Given the description of an element on the screen output the (x, y) to click on. 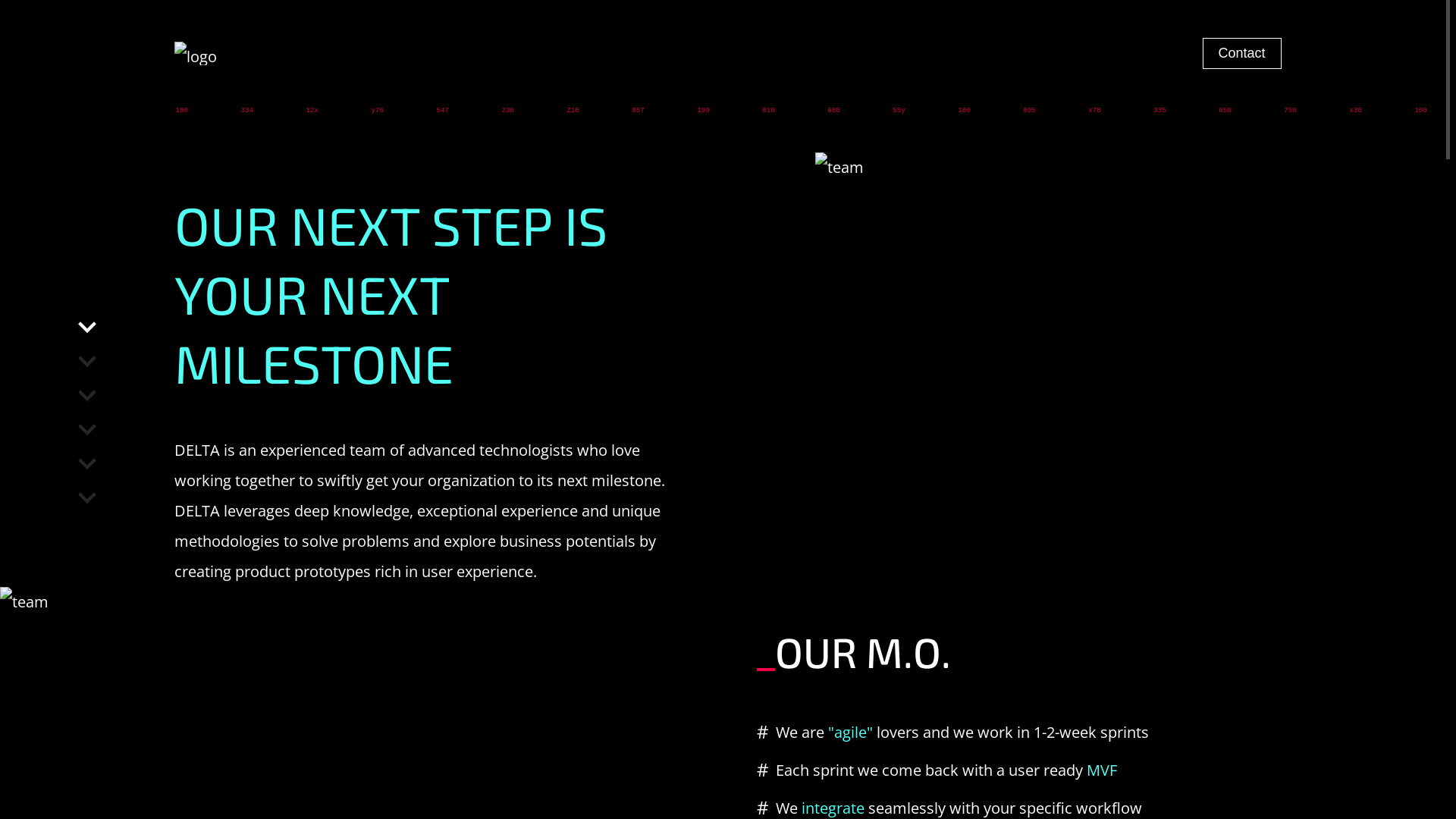
Contact Element type: text (1241, 53)
